Given the description of an element on the screen output the (x, y) to click on. 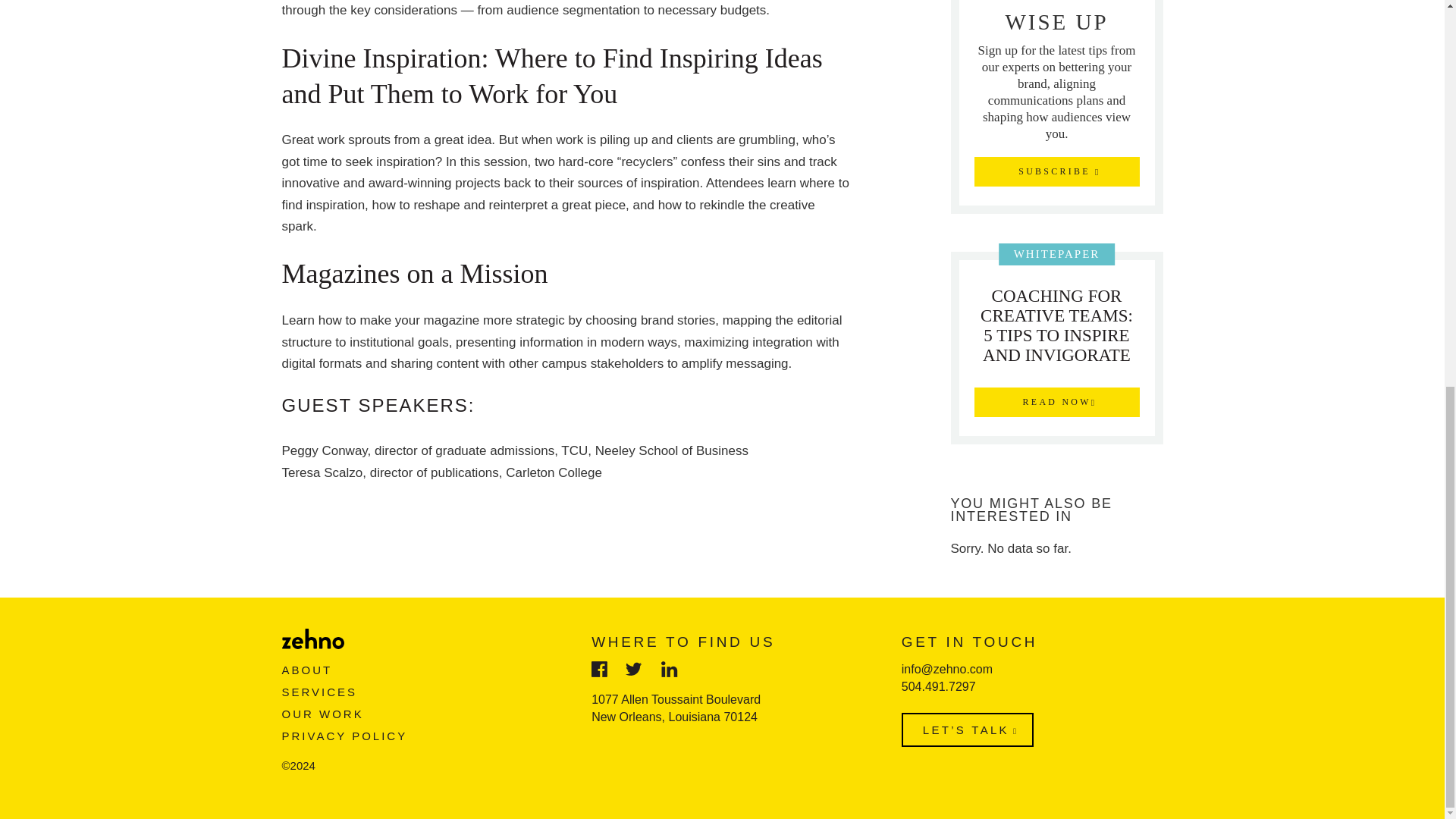
PRIVACY POLICY (344, 735)
504.491.7297 (938, 686)
ABOUT (307, 669)
READ NOW (1056, 221)
OUR WORK (323, 713)
SERVICES (320, 691)
